Given the description of an element on the screen output the (x, y) to click on. 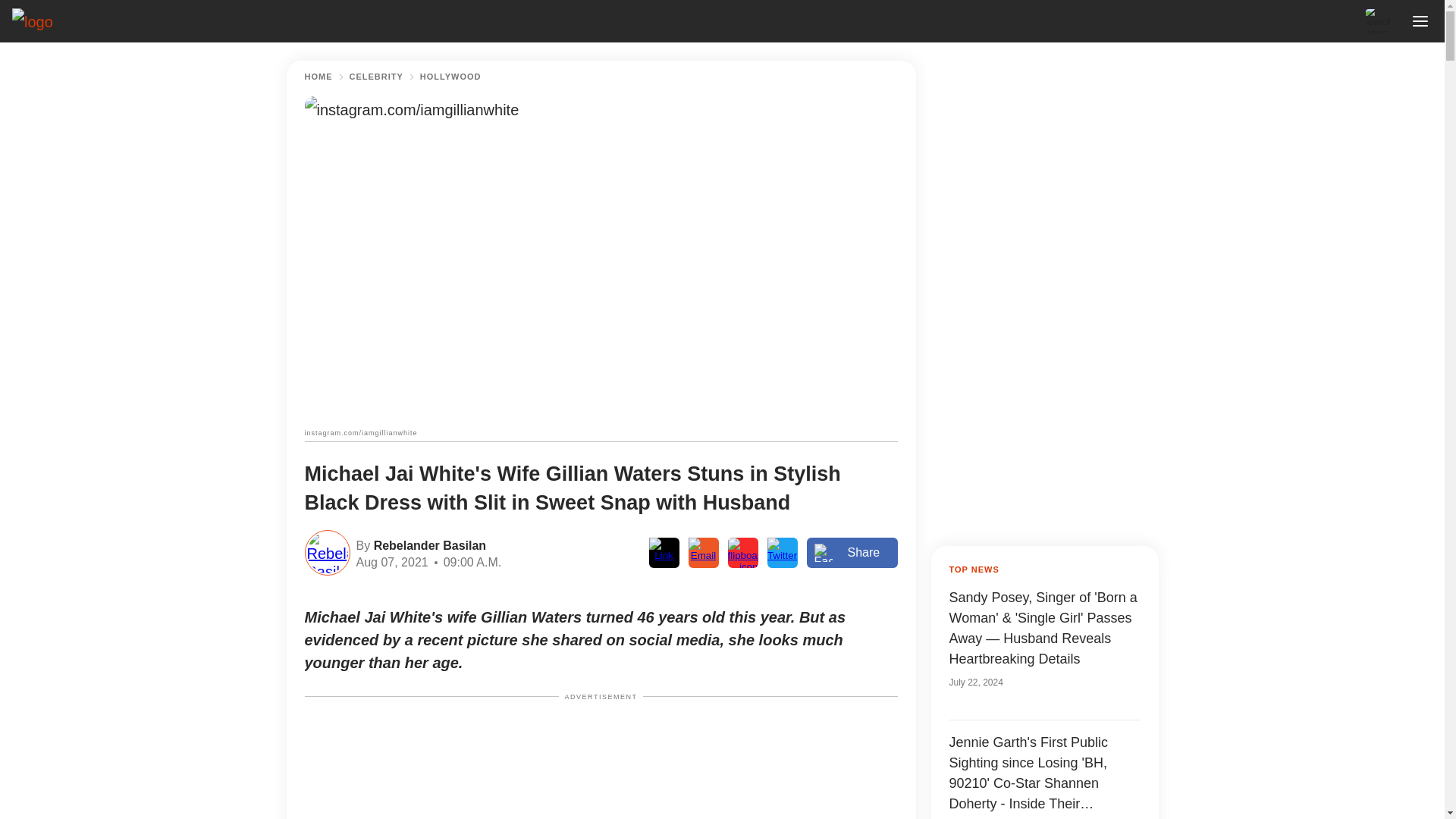
HOME (318, 76)
CELEBRITY (376, 76)
HOLLYWOOD (450, 76)
Rebelander Basilan (427, 544)
